Given the description of an element on the screen output the (x, y) to click on. 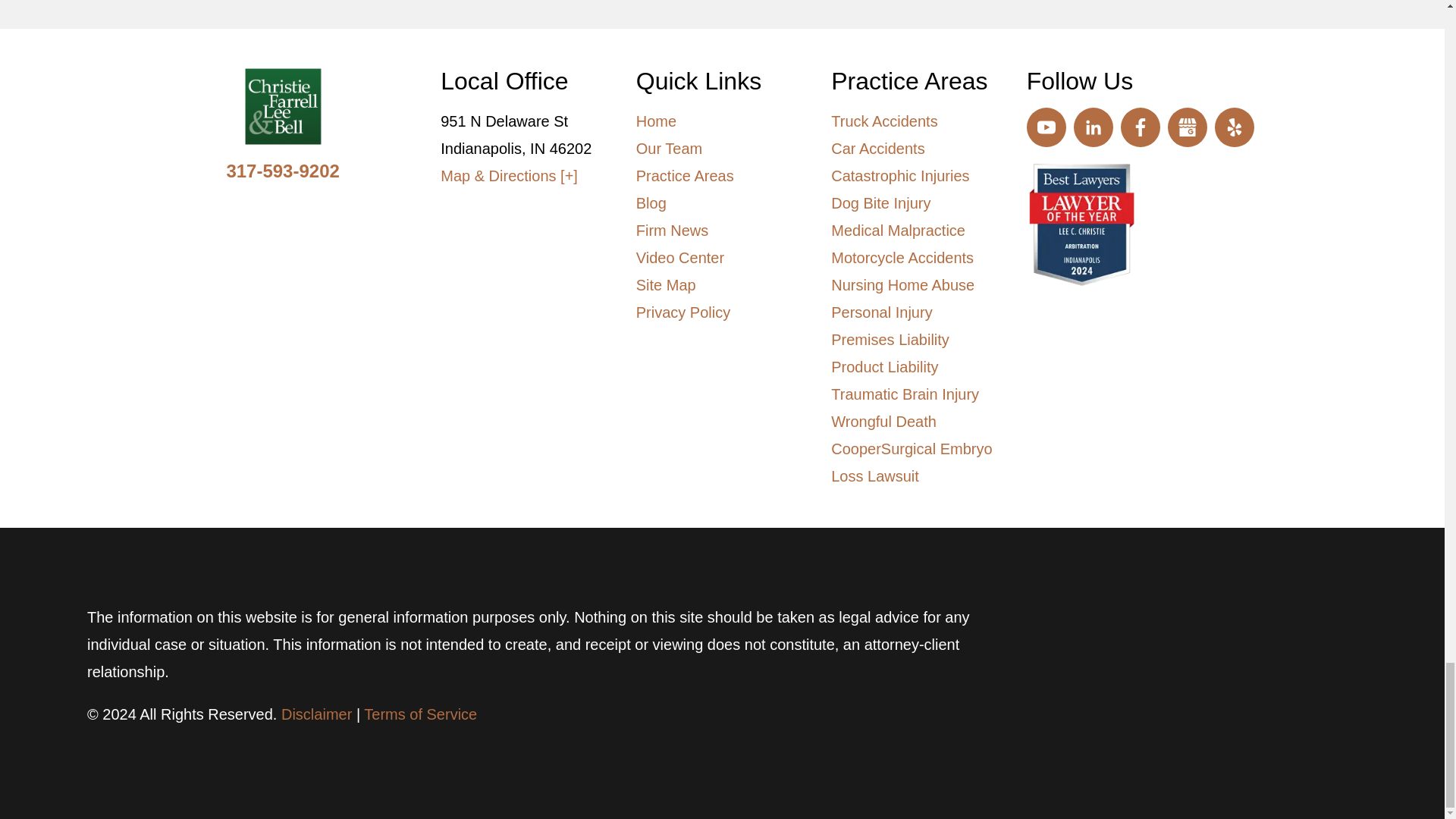
Follow Us on Facebook (1140, 127)
Follow Us on Google Business (1187, 127)
Follow Us on Yelp (1233, 127)
Call Us Today (282, 170)
Follow Us on LinkedIn (1093, 127)
Follow Us on YouTube (1045, 127)
